Given the description of an element on the screen output the (x, y) to click on. 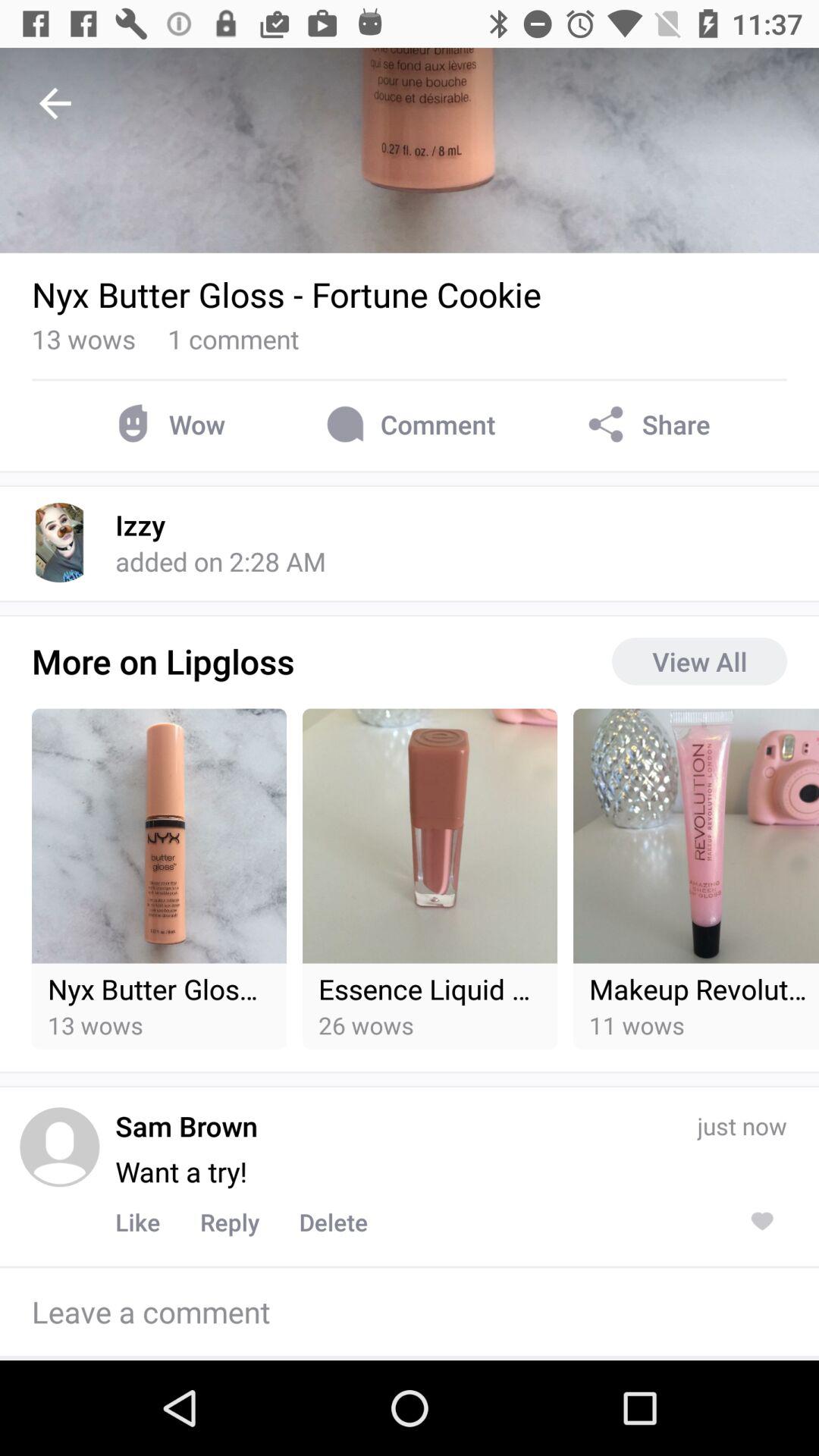
press the icon below sam brown item (181, 1171)
